Given the description of an element on the screen output the (x, y) to click on. 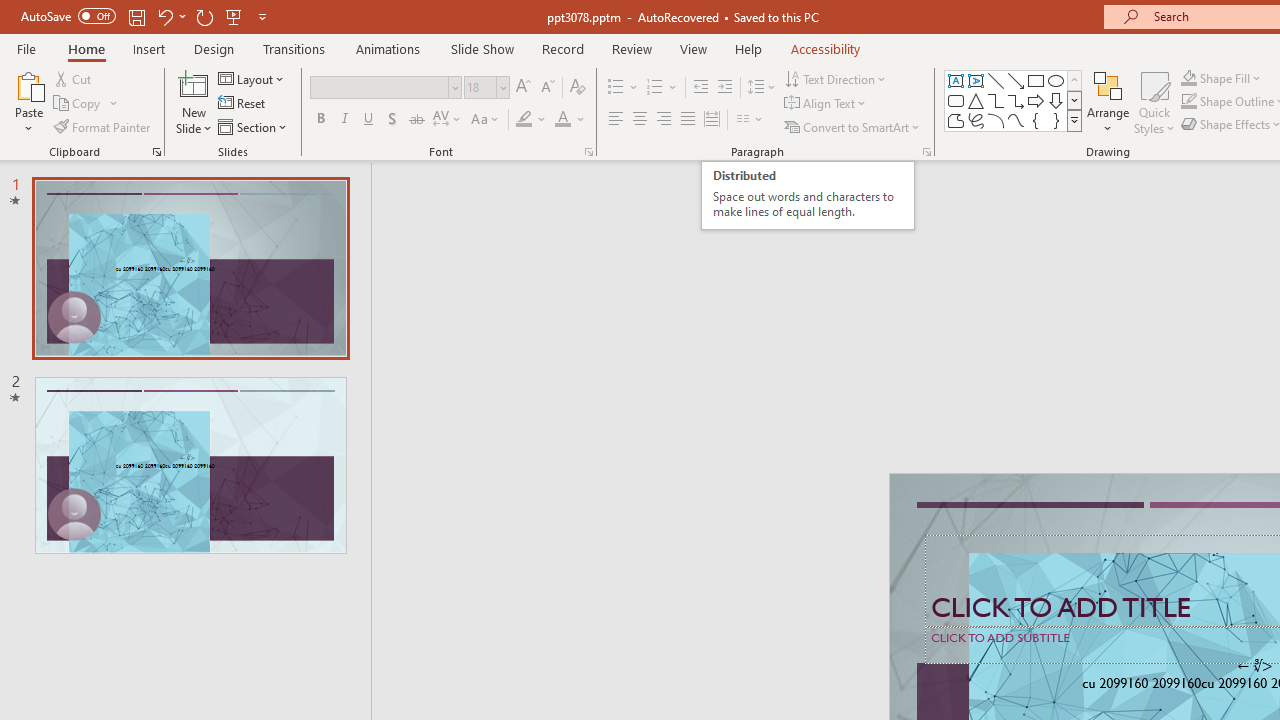
TextBox 7 (1254, 666)
